Given the description of an element on the screen output the (x, y) to click on. 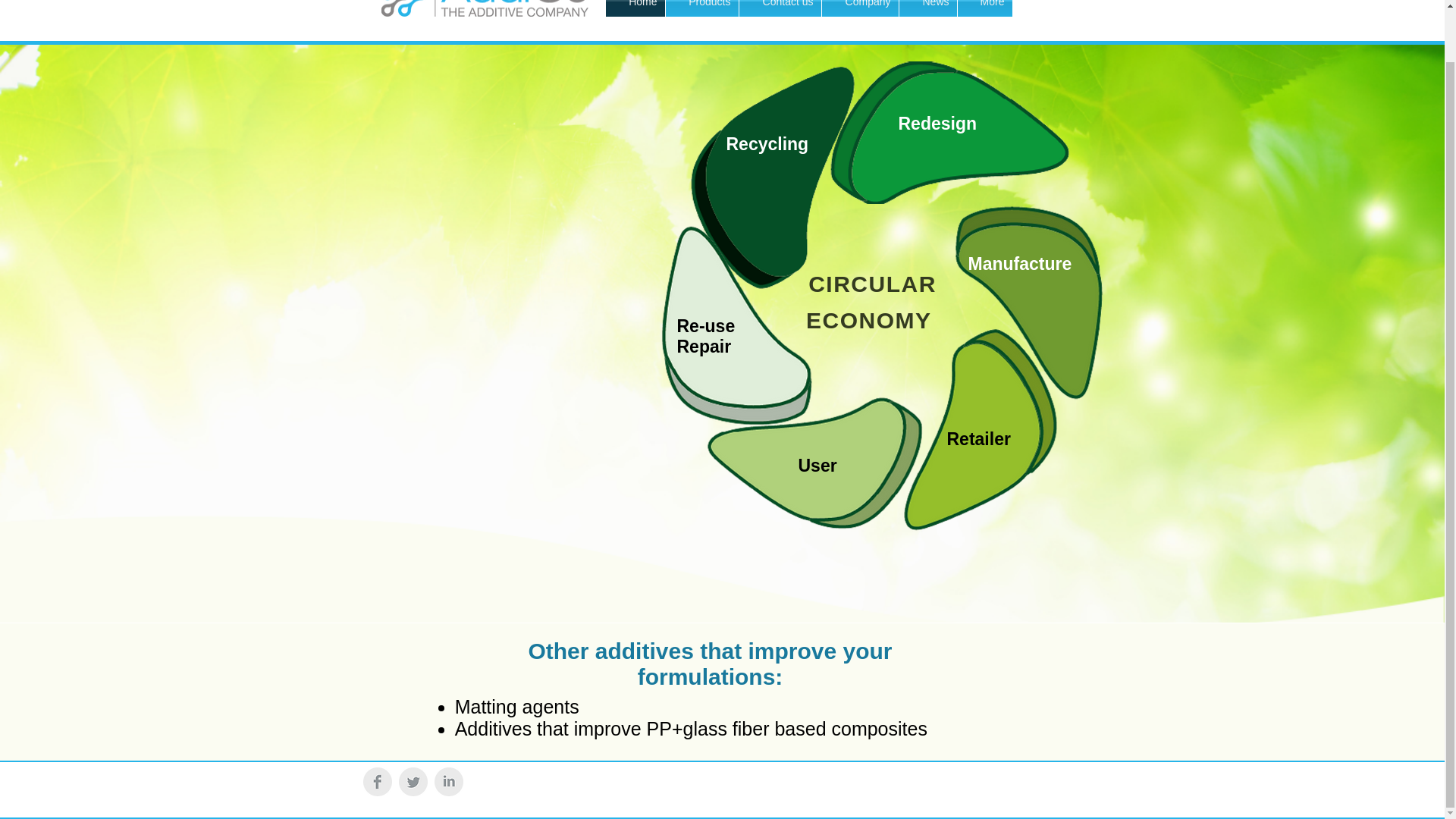
Redesign (937, 123)
Recycling (767, 143)
Company (860, 8)
Products (701, 8)
News (927, 8)
segmento 1.png (950, 132)
Home (634, 8)
Contact us (779, 8)
